Given the description of an element on the screen output the (x, y) to click on. 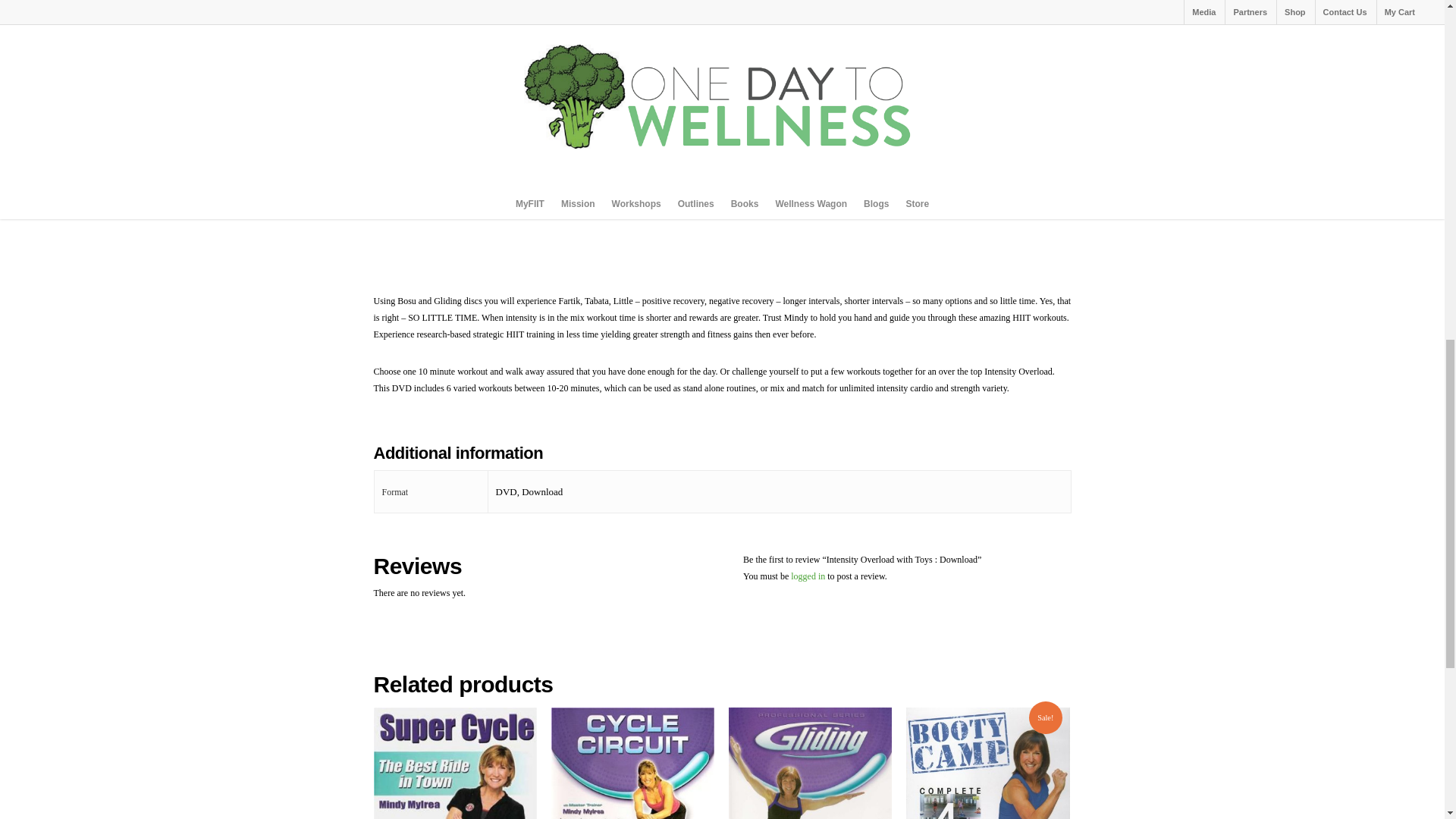
logged in (807, 575)
